Given the description of an element on the screen output the (x, y) to click on. 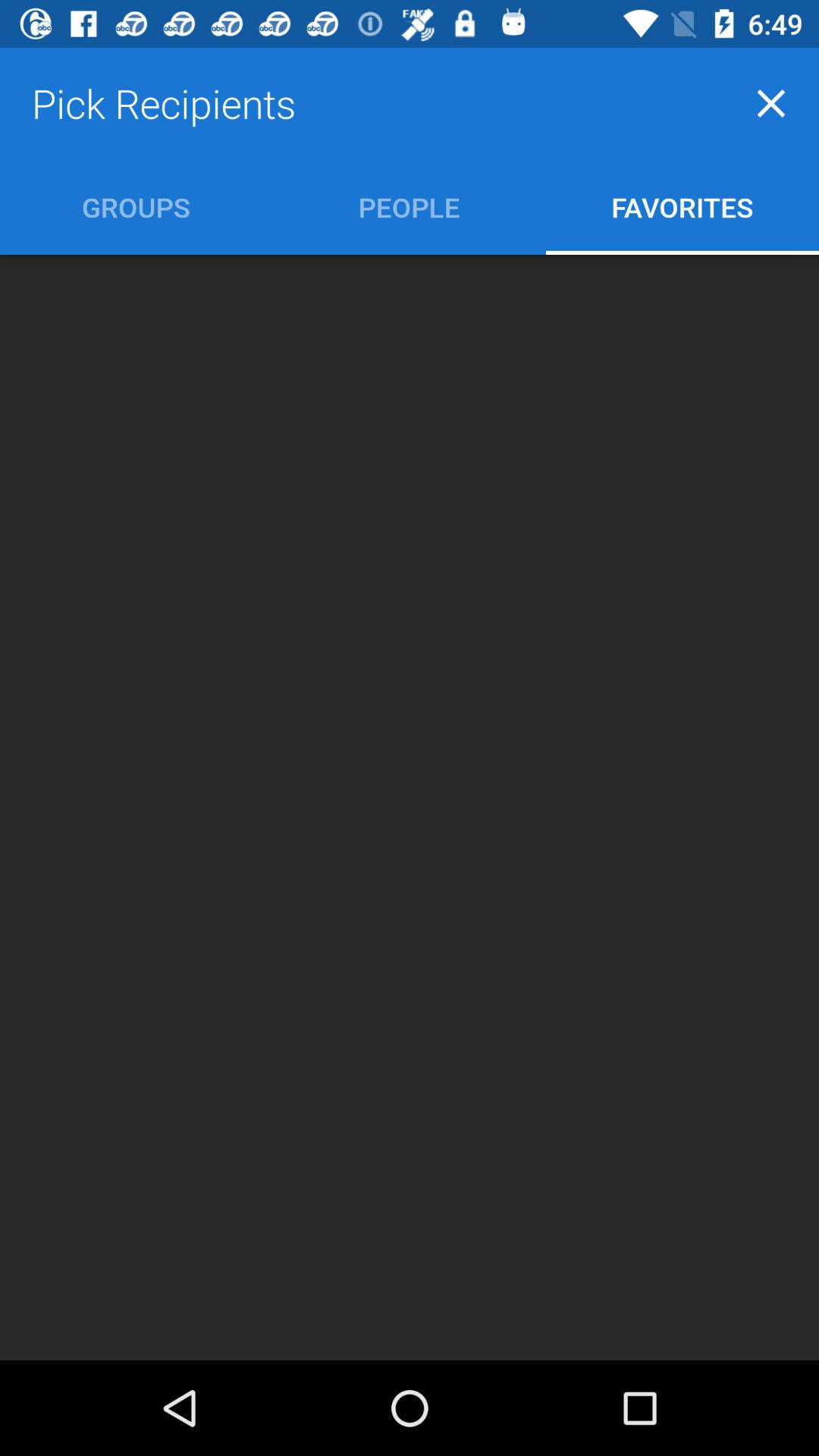
select the icon below groups (409, 807)
